Given the description of an element on the screen output the (x, y) to click on. 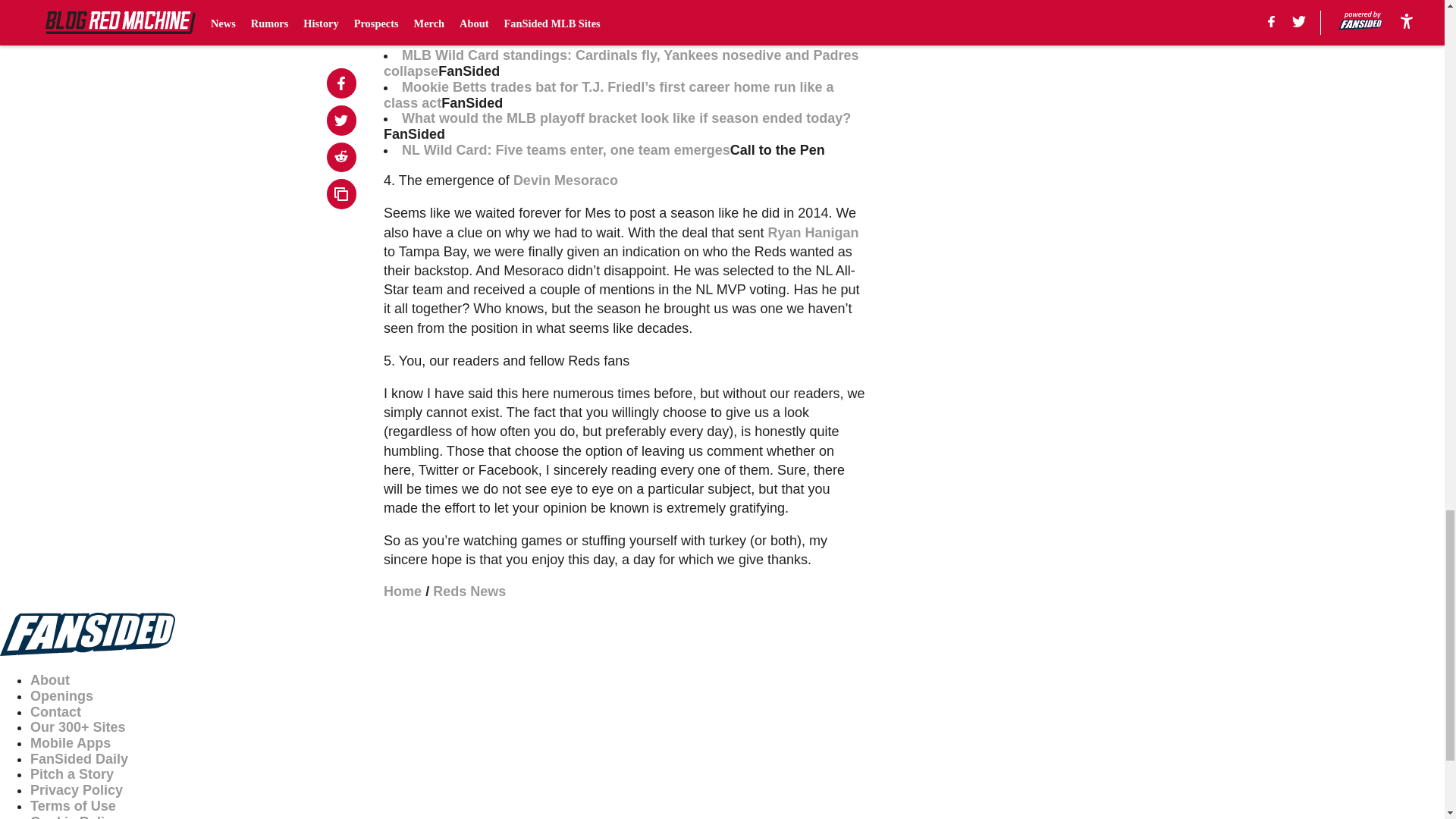
NL Wild Card: Five teams enter, one team emerges (565, 150)
Ryan Hanigan (813, 232)
Devin Mesoraco (565, 180)
Home (403, 590)
Reds News (468, 590)
